Given the description of an element on the screen output the (x, y) to click on. 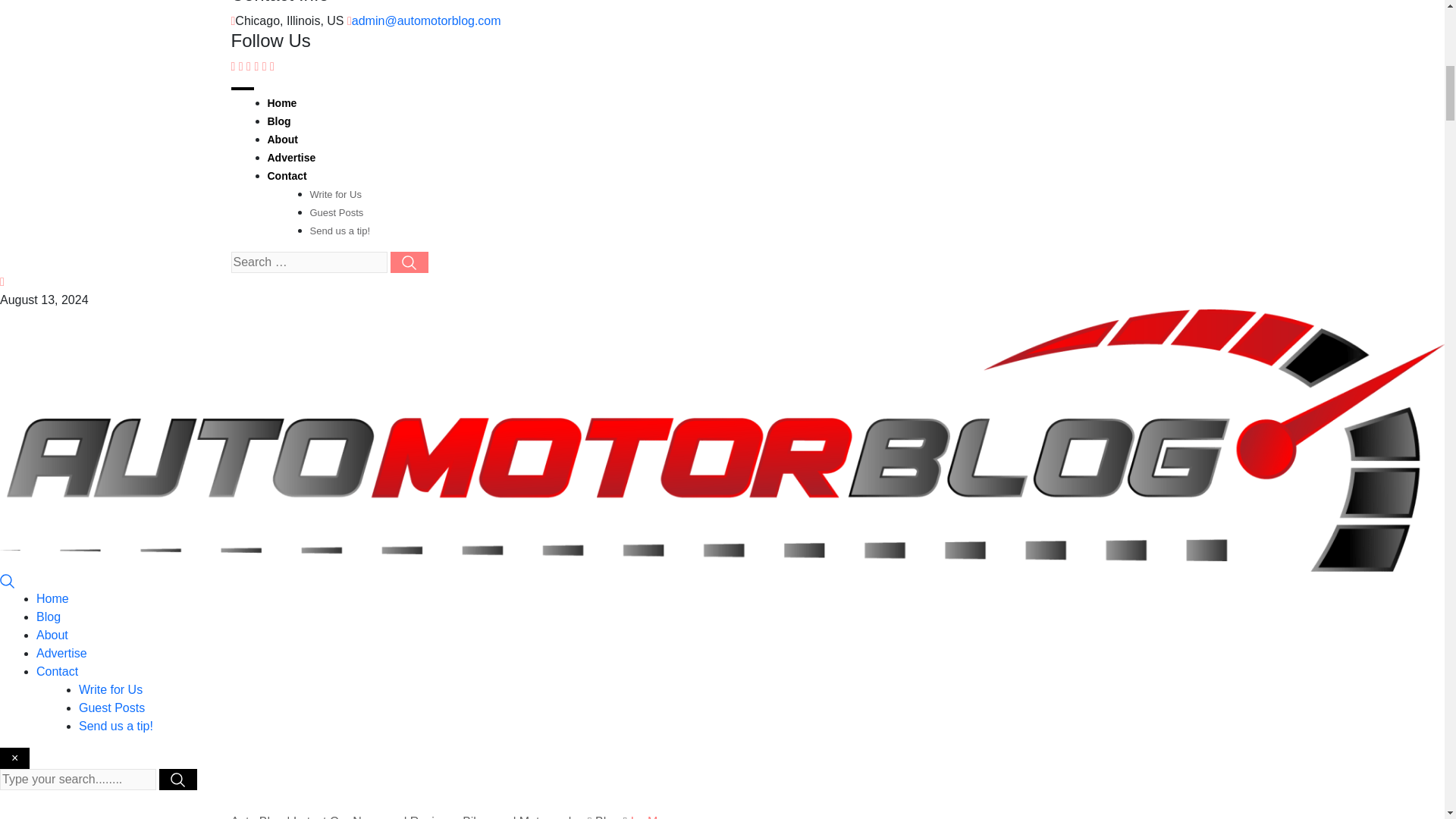
About (52, 634)
Blog (277, 121)
Write for Us (334, 194)
Search (7, 580)
Contact (57, 671)
Home (52, 598)
Guest Posts (111, 707)
Write for Us (110, 689)
Advertise (61, 653)
Blog (48, 616)
